Given the description of an element on the screen output the (x, y) to click on. 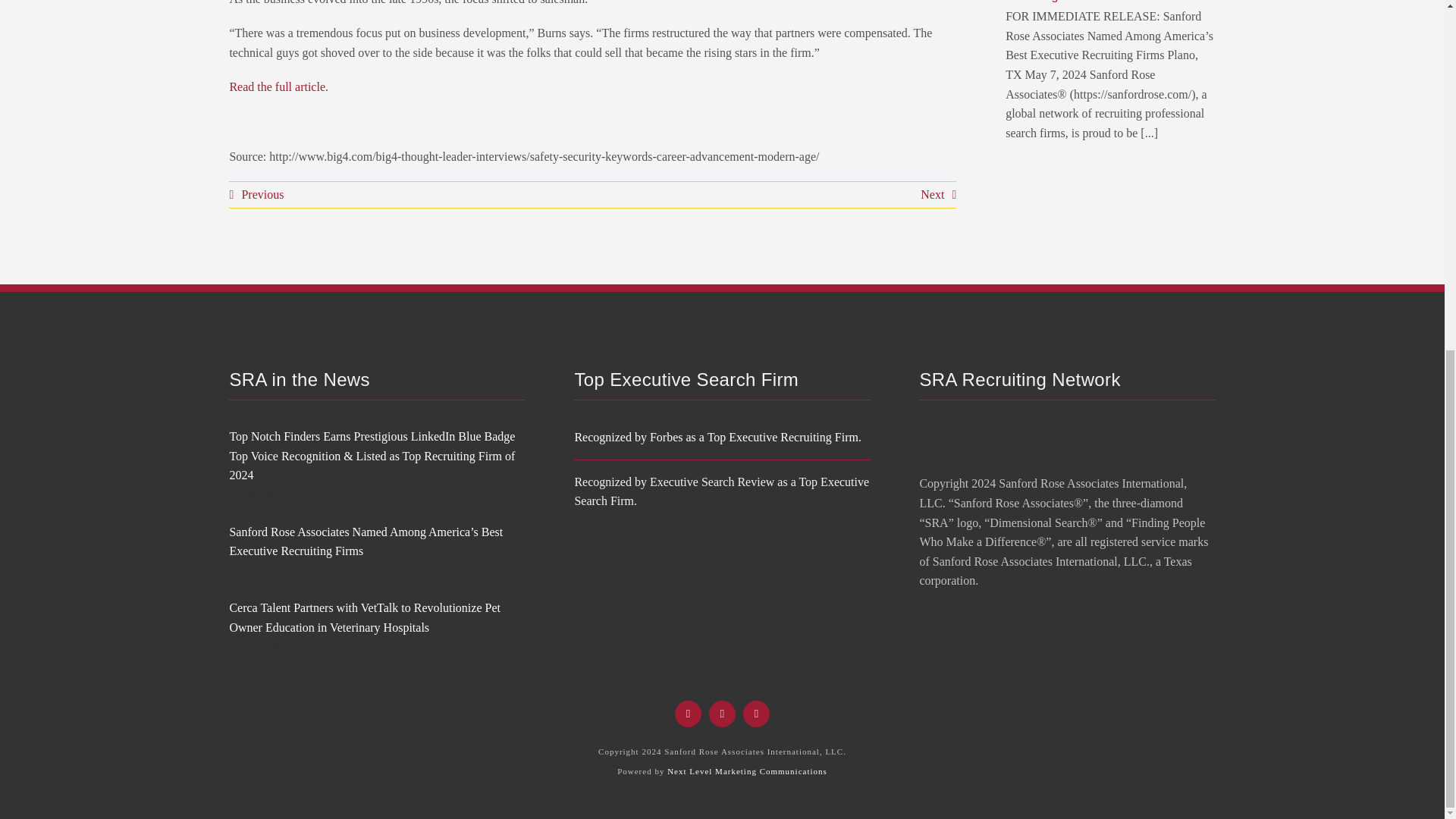
Facebook (688, 714)
X (722, 714)
SRA-Diamonds-White (965, 438)
LinkedIn (756, 714)
